Given the description of an element on the screen output the (x, y) to click on. 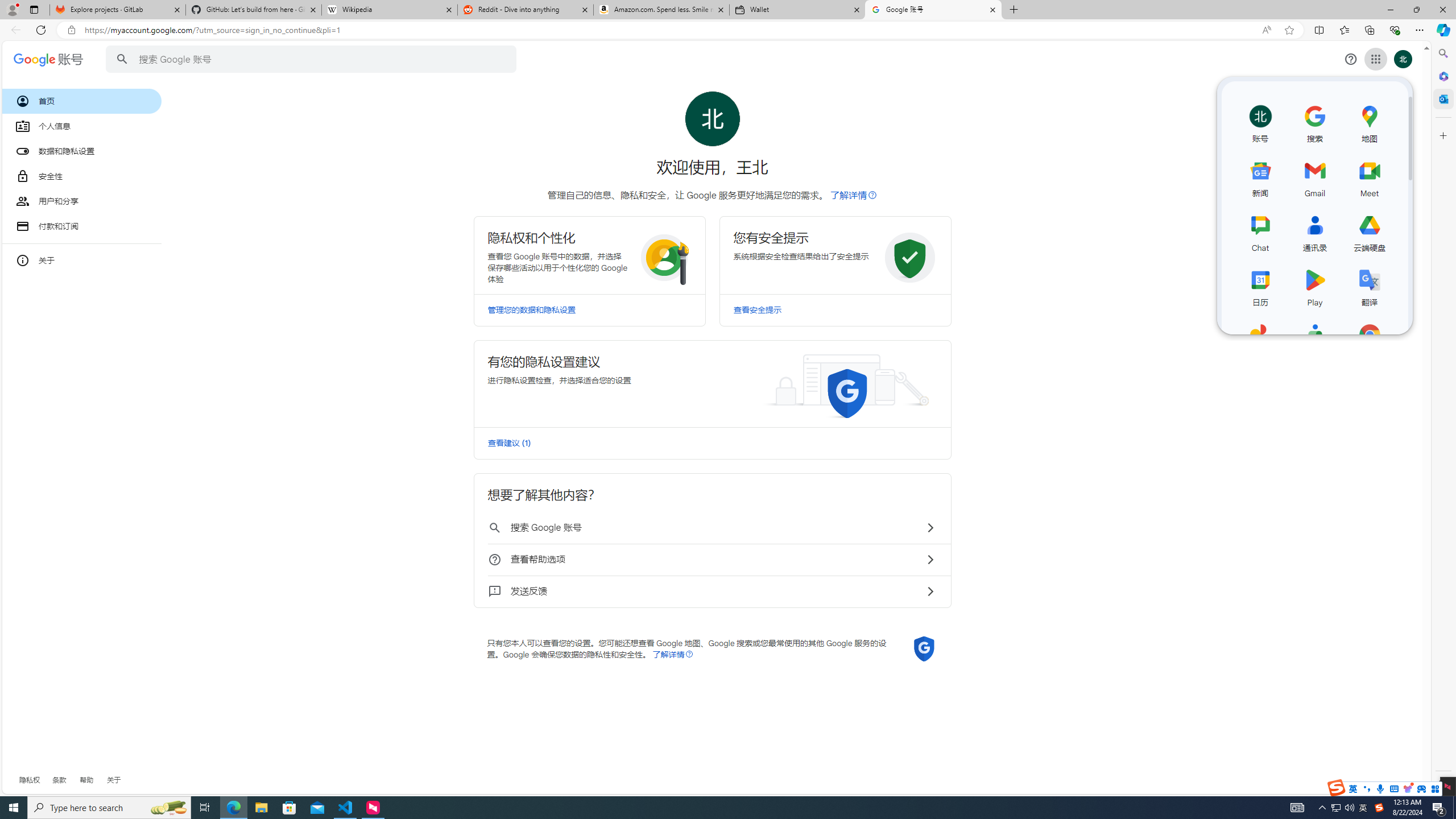
Wallet (797, 9)
